Given the description of an element on the screen output the (x, y) to click on. 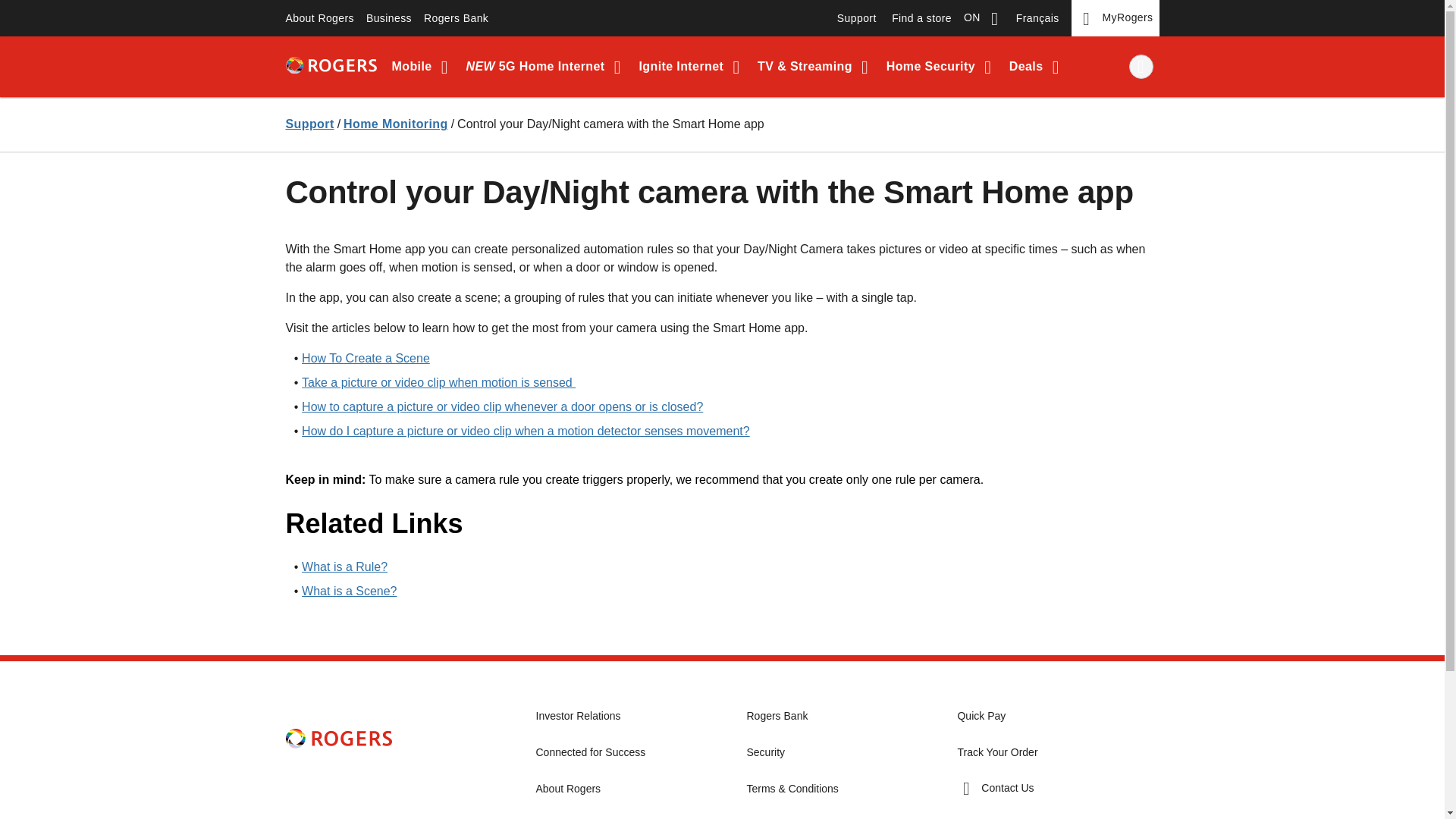
Mobile (422, 66)
NEW 5G Home Internet (545, 66)
MyRogers (1114, 18)
Rogers Bank (456, 18)
About Rogers (319, 18)
Support (856, 18)
Find a store (921, 18)
Support (309, 124)
Skip to site map (333, 18)
Skip to main content (347, 18)
ON (982, 18)
Business (388, 18)
Home Monitoring (395, 124)
Skip to accessibility (346, 18)
